Given the description of an element on the screen output the (x, y) to click on. 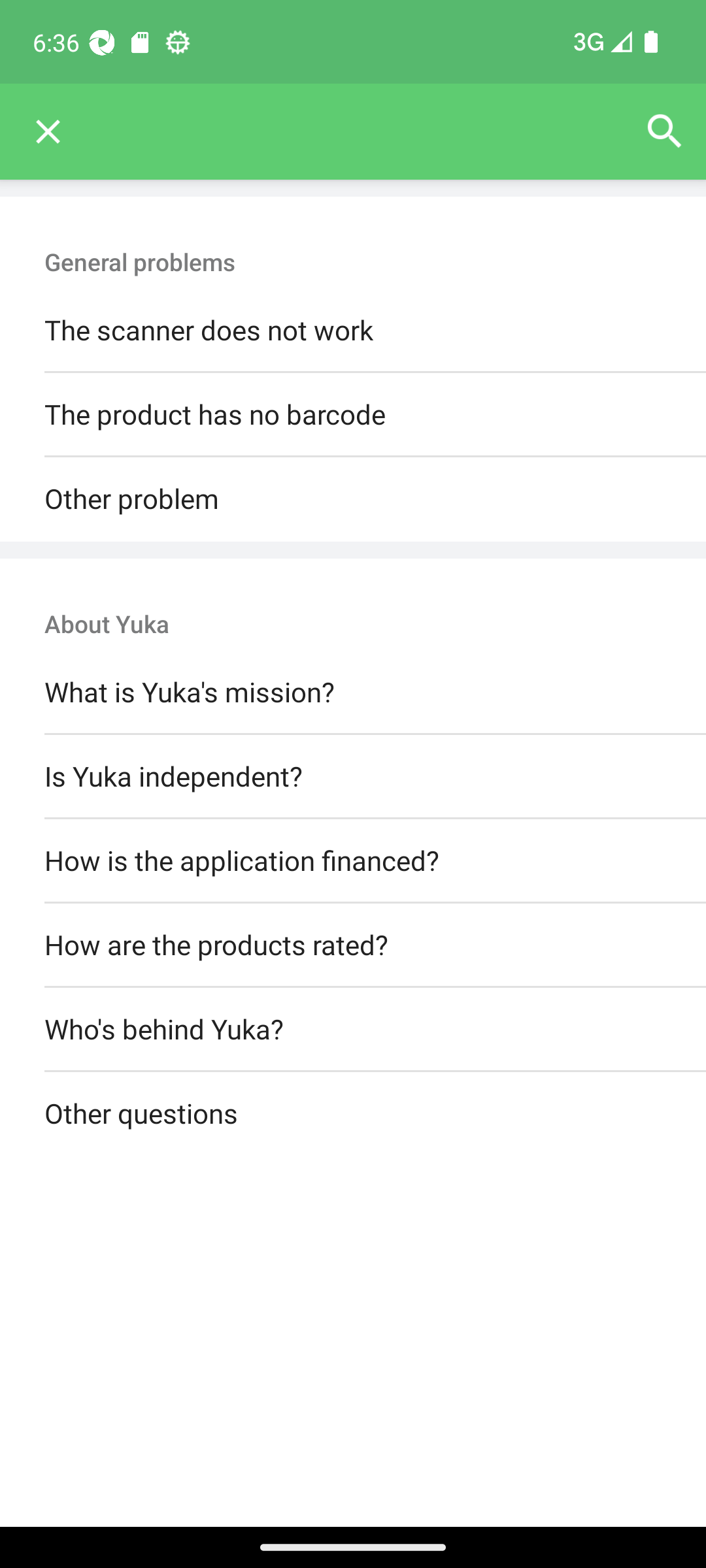
Search (664, 131)
The scanner does not work (353, 330)
The product has no barcode (353, 415)
Other problem (353, 498)
What is Yuka's mission? (353, 692)
Is Yuka independent? (353, 776)
How is the application financed? (353, 860)
How are the products rated? (353, 945)
Who's behind Yuka? (353, 1029)
Other questions (353, 1114)
